Given the description of an element on the screen output the (x, y) to click on. 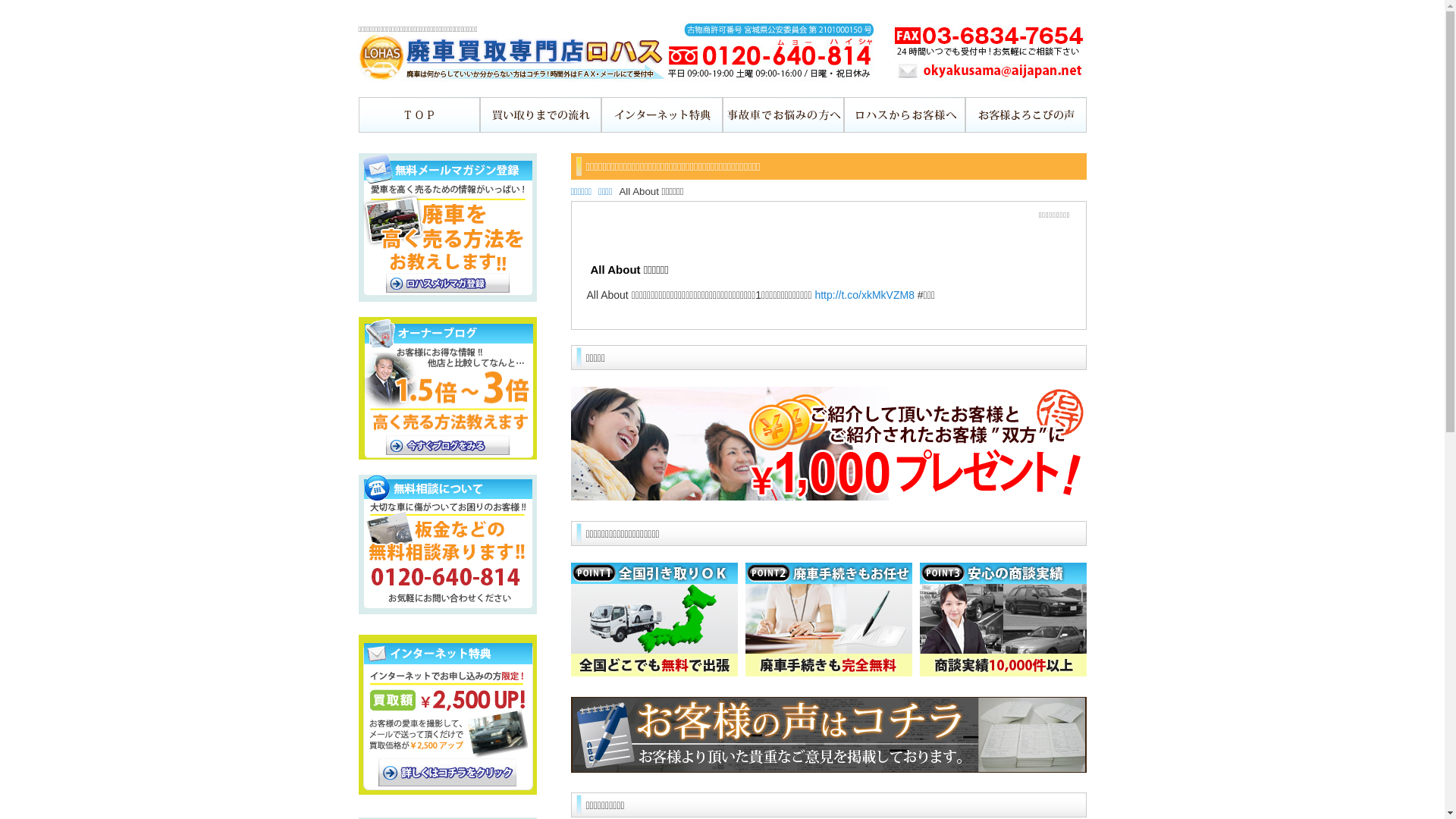
http://t.co/xkMkVZM8 Element type: text (863, 294)
